Given the description of an element on the screen output the (x, y) to click on. 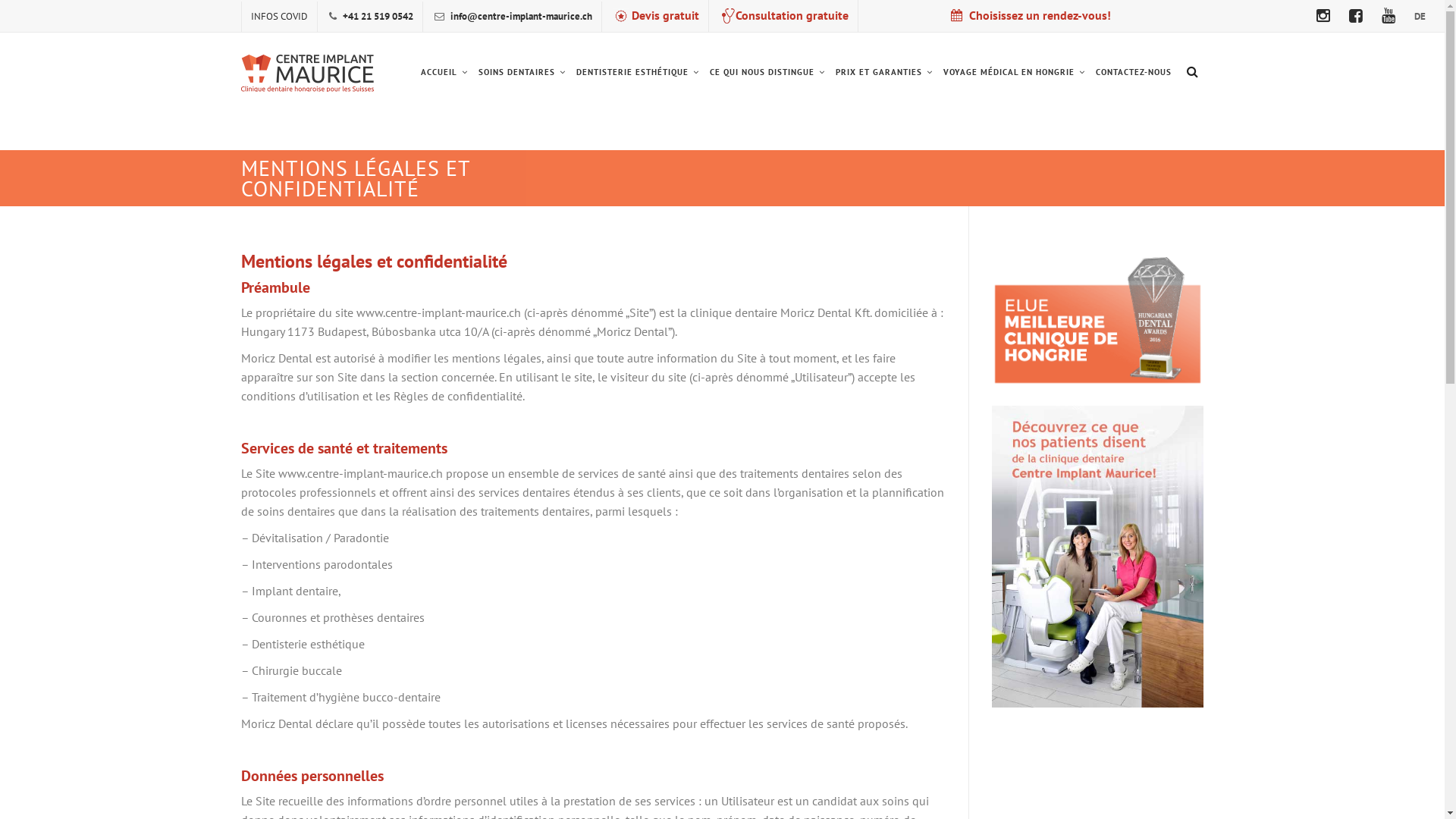
INFOS COVID Element type: text (278, 15)
SOINS DENTAIRES Element type: text (522, 72)
DE Element type: text (1419, 16)
Choisissez un rendez-vous! Element type: text (1030, 14)
+41 21 519 0542 Element type: text (377, 15)
Consultation gratuite Element type: text (784, 14)
info@centre-implant-maurice.ch Element type: text (521, 15)
Skip to content Element type: text (414, 31)
Centre Implant Maurice Element type: hover (307, 72)
ACCUEIL Element type: text (444, 72)
Devis gratuit Element type: text (655, 14)
CE QUI NOUS DISTINGUE Element type: text (766, 72)
PRIX ET GARANTIES Element type: text (883, 72)
CONTACTEZ-NOUS Element type: text (1133, 72)
